Given the description of an element on the screen output the (x, y) to click on. 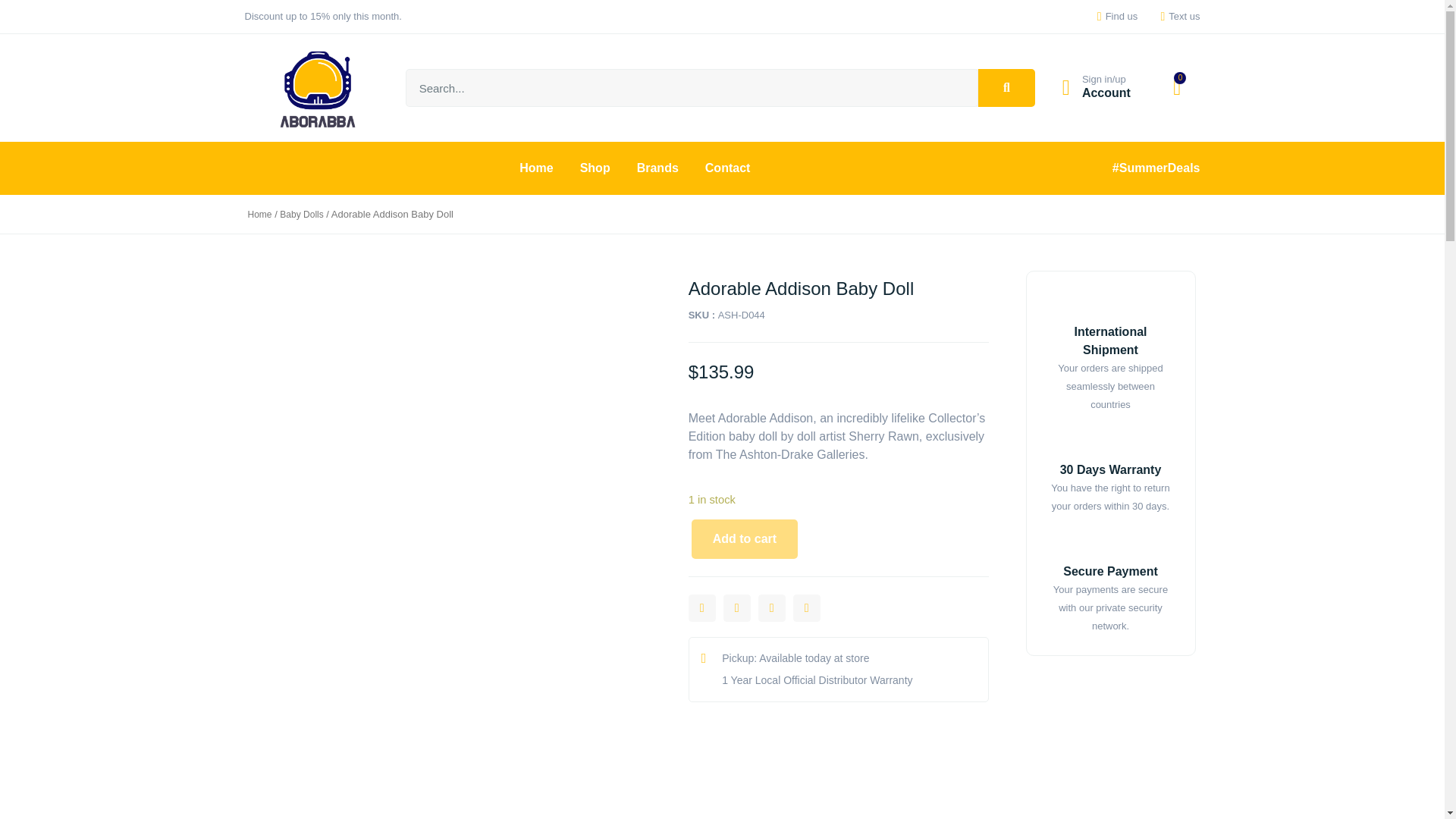
Search (1006, 87)
Search (692, 87)
Text us (1174, 16)
0 (1176, 87)
Find us (1112, 16)
